Given the description of an element on the screen output the (x, y) to click on. 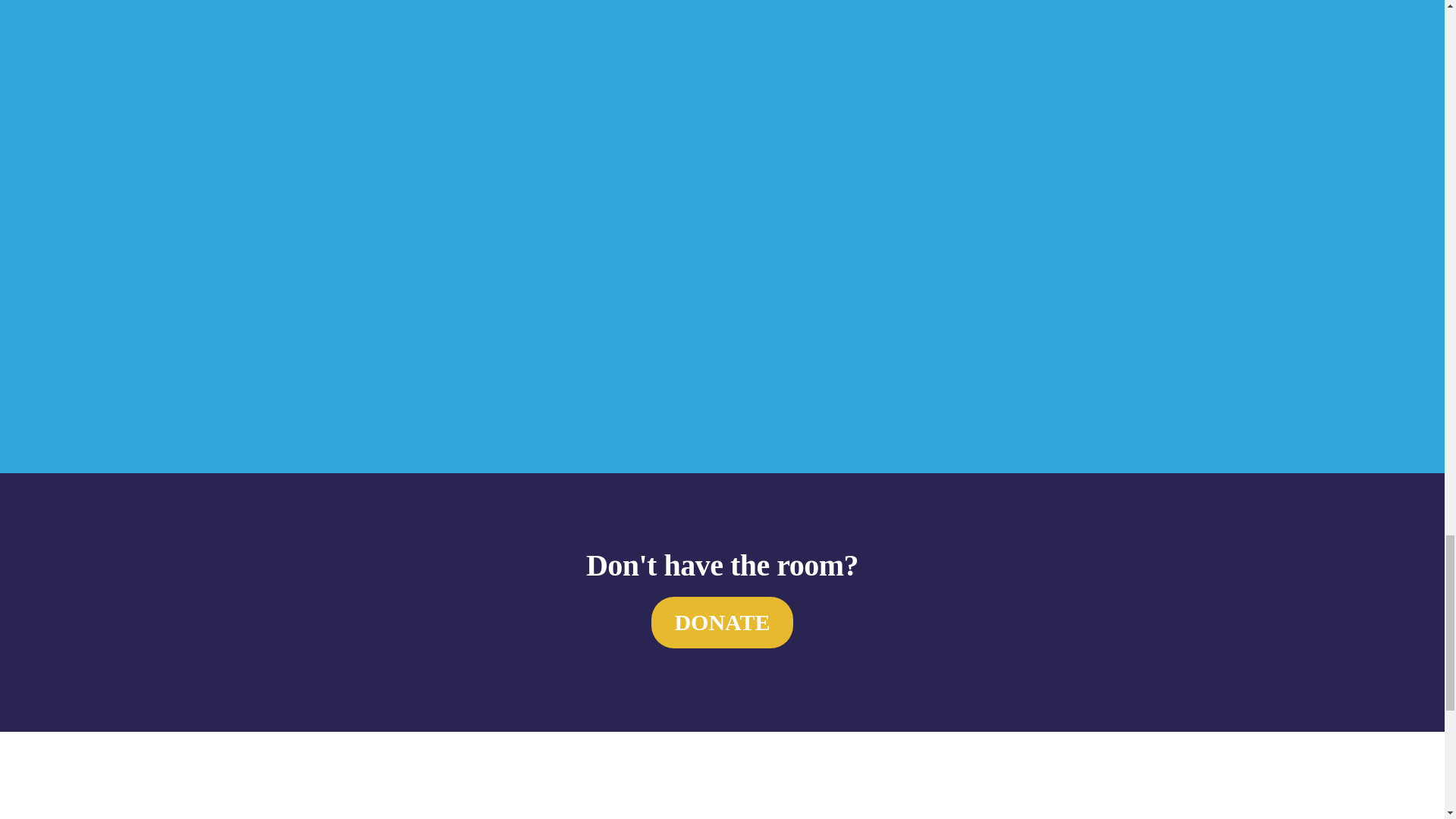
DONATE (721, 622)
